Given the description of an element on the screen output the (x, y) to click on. 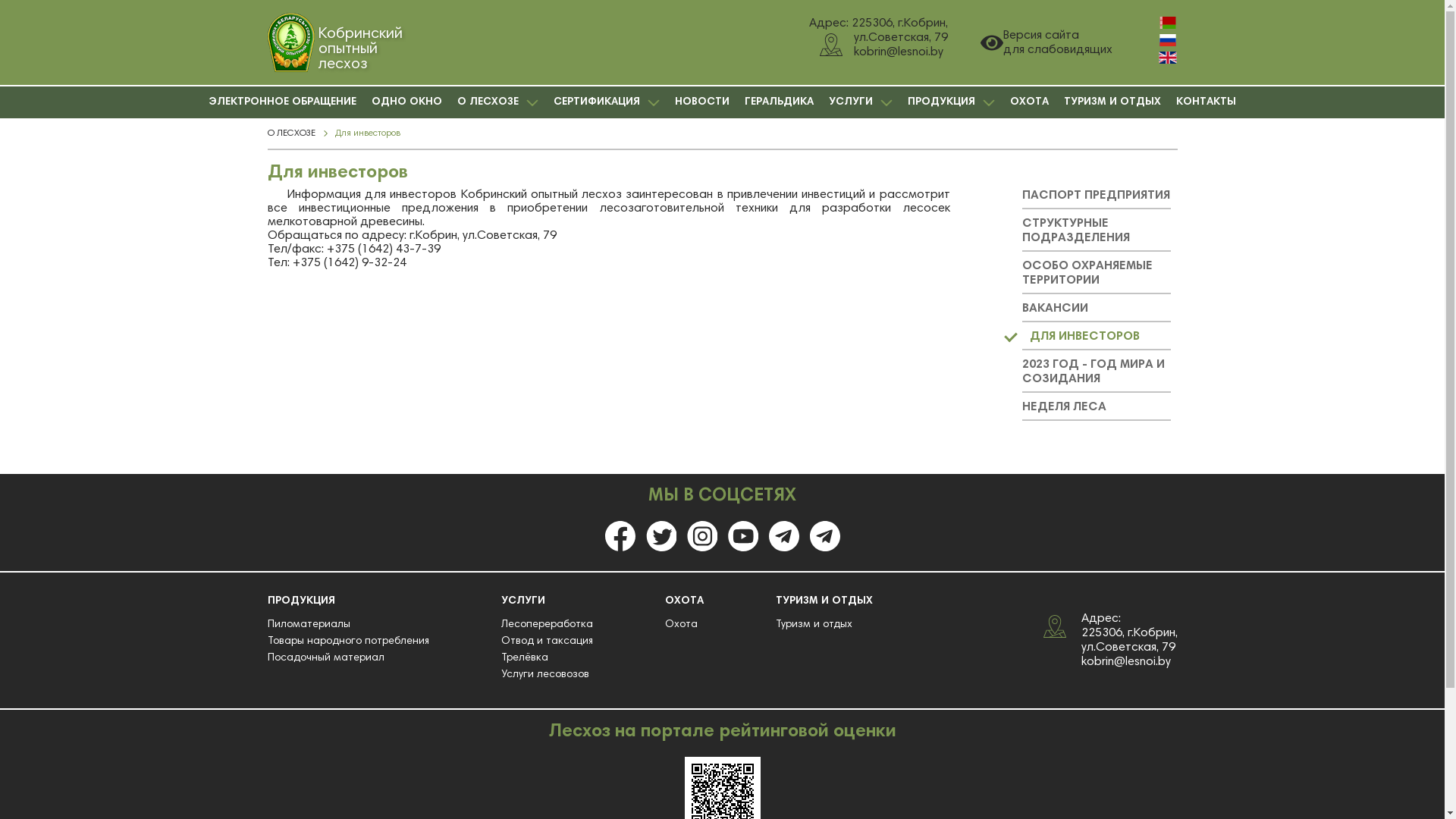
/> Element type: text (824, 535)
kobrin@lesnoi.by Element type: text (1125, 661)
